Given the description of an element on the screen output the (x, y) to click on. 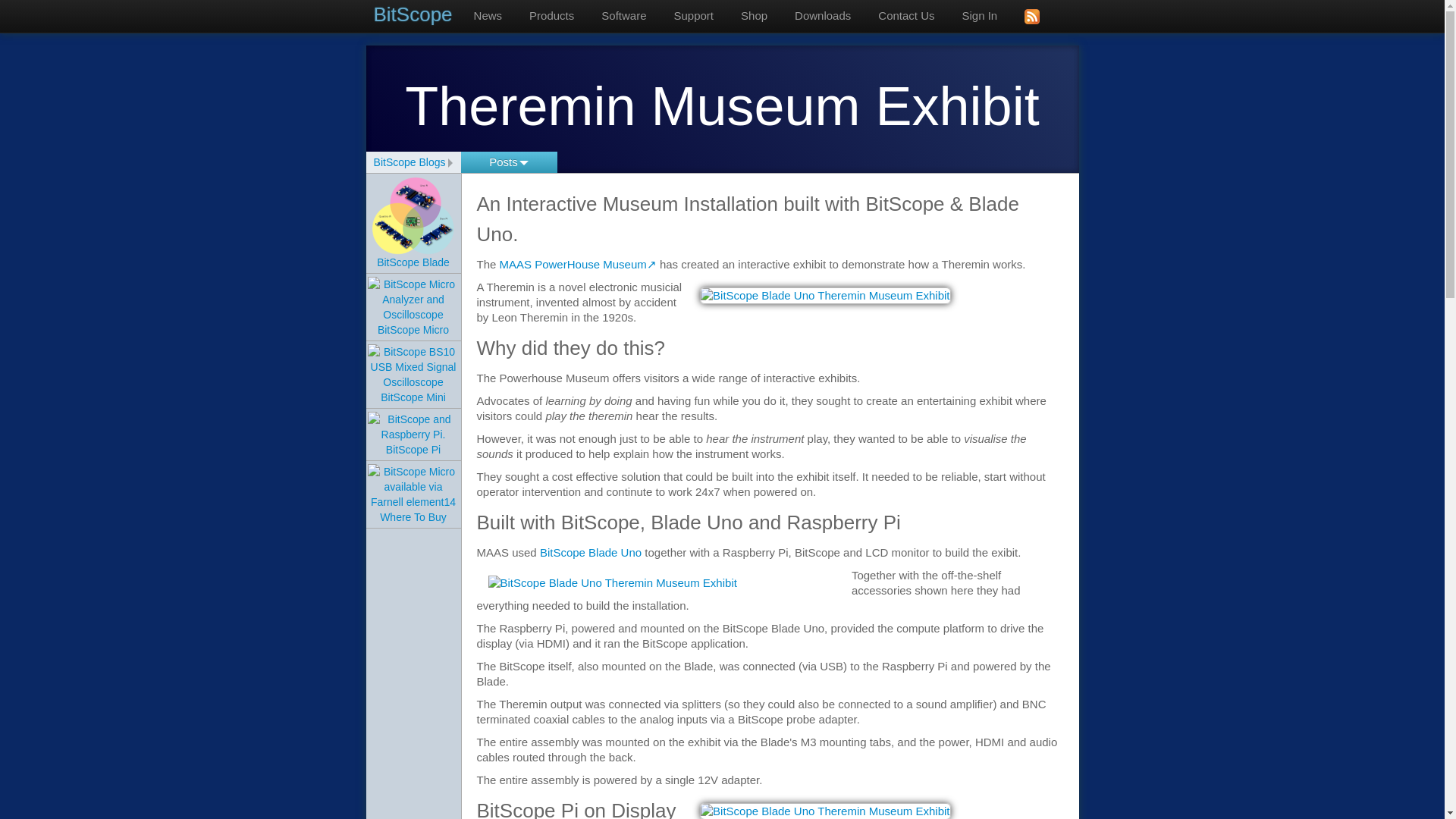
BitScope Mini (412, 381)
BitScope (416, 14)
Software for BitScope. (623, 15)
Support (692, 15)
Where To Buy (412, 501)
Sign In (980, 15)
Contact Us (905, 15)
BitScope Pi (412, 437)
BitScope Micro (412, 313)
BitScope BS10 USB Mixed Signal Oscilloscope (412, 366)
Posts (509, 161)
How to contact us. (905, 15)
BitScope Blade for Raspberry Pi (412, 215)
BitScope BS10 USB Mixed Signal Oscilloscope (412, 381)
BitScope in Education. (692, 15)
